Given the description of an element on the screen output the (x, y) to click on. 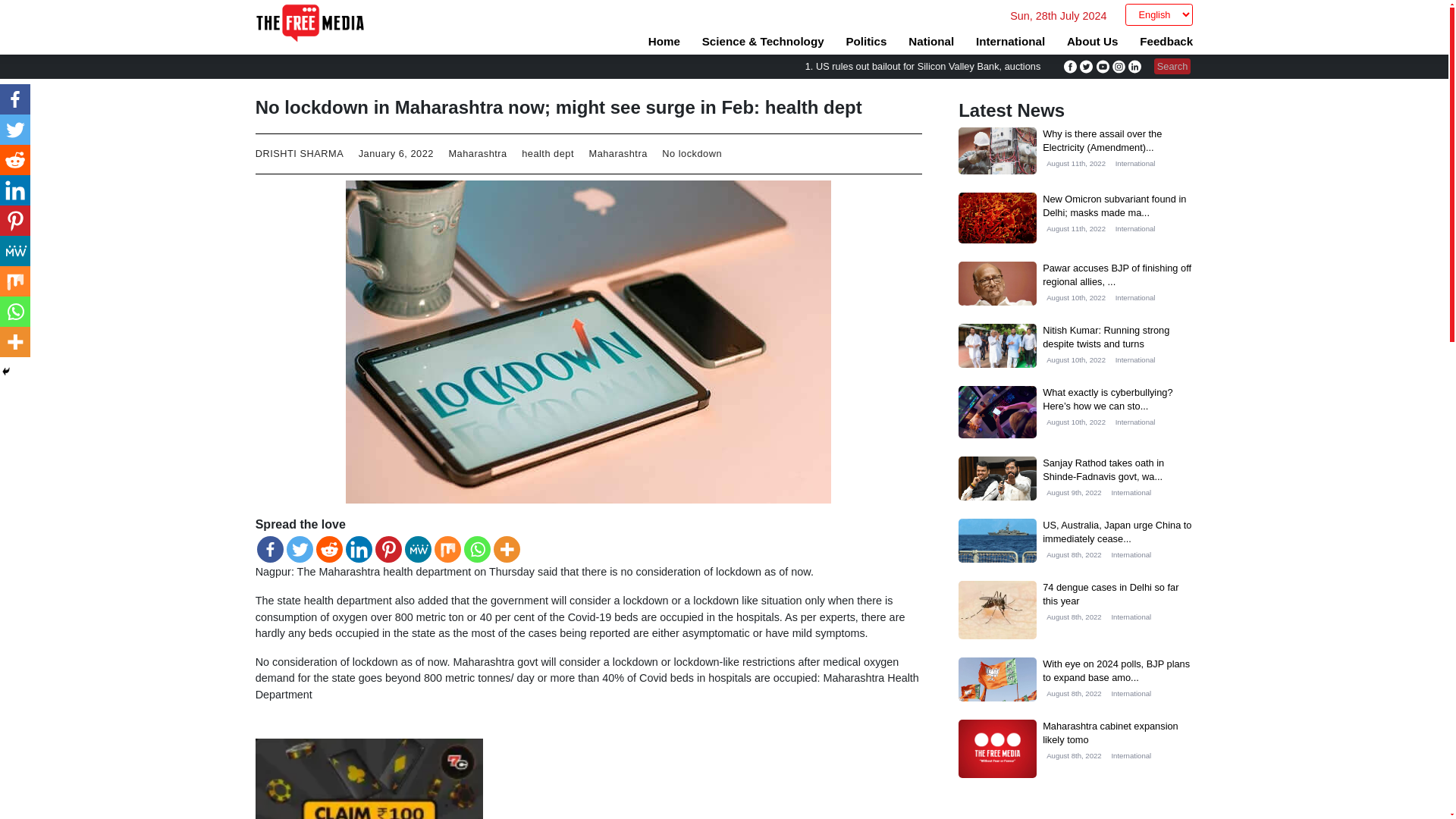
Linkedin (359, 549)
Whatsapp (477, 549)
Mix (447, 549)
DRISHTI SHARMA (299, 153)
Pinterest (388, 549)
No lockdown (692, 153)
Reddit (328, 549)
Maharashtra (477, 153)
Maharashtra (617, 153)
Home (663, 41)
January 6, 2022 (395, 153)
Feedback (1166, 41)
About Us (1092, 41)
Politics (865, 41)
